Given the description of an element on the screen output the (x, y) to click on. 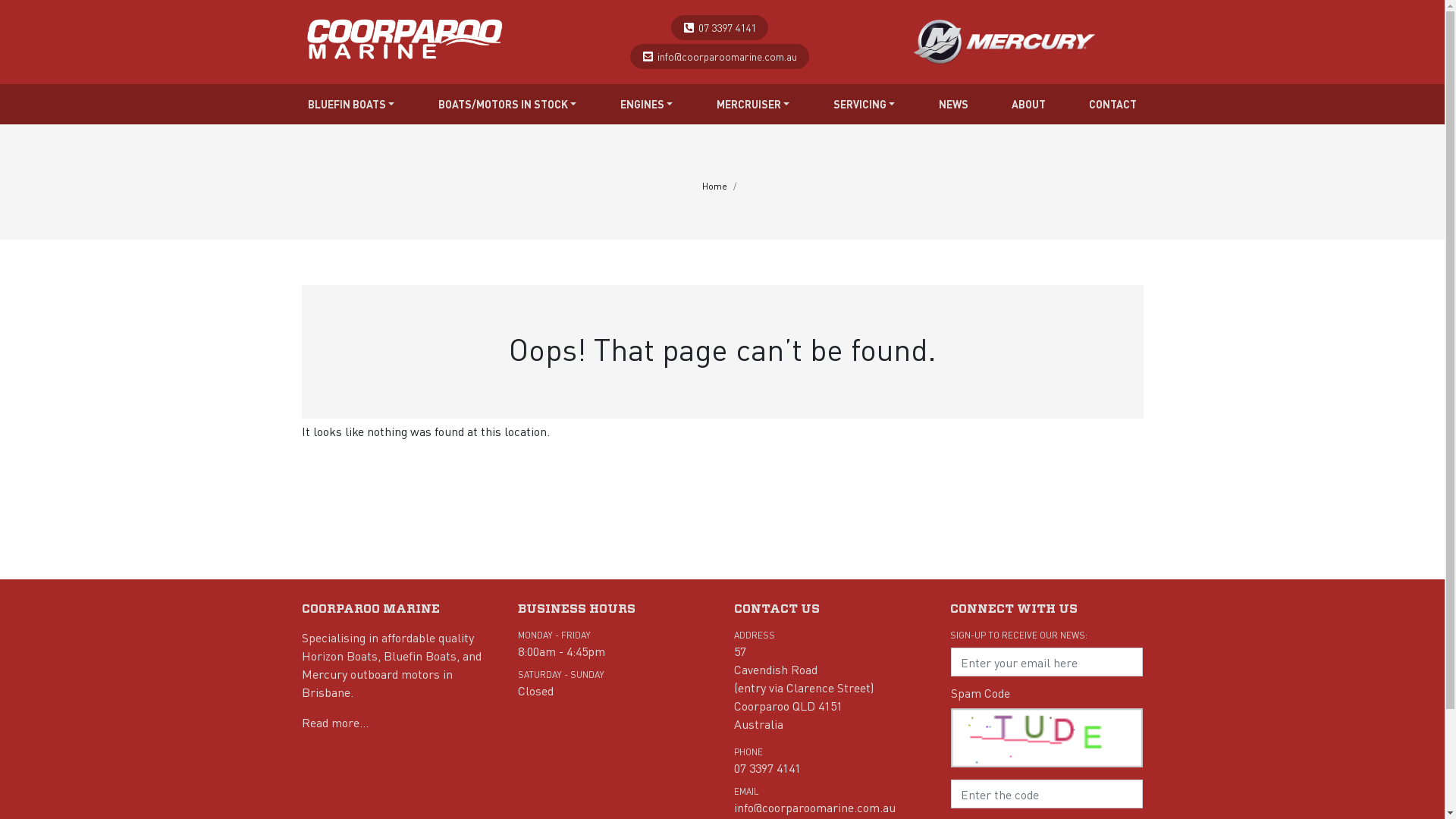
BLUEFIN BOATS Element type: text (351, 104)
info@coorparoomarine.com.au Element type: text (814, 807)
BOATS/MOTORS IN STOCK Element type: text (507, 104)
MERCRUISER Element type: text (753, 104)
ENGINES Element type: text (646, 104)
07 3397 4141 Element type: text (767, 767)
ABOUT Element type: text (1028, 104)
NEWS Element type: text (953, 104)
SERVICING Element type: text (864, 104)
07 3397 4141 Element type: text (727, 27)
Read more... Element type: text (334, 722)
CONTACT Element type: text (1112, 104)
info@coorparoomarine.com.au Element type: text (727, 56)
Home Element type: text (714, 185)
... Element type: hover (406, 35)
